Given the description of an element on the screen output the (x, y) to click on. 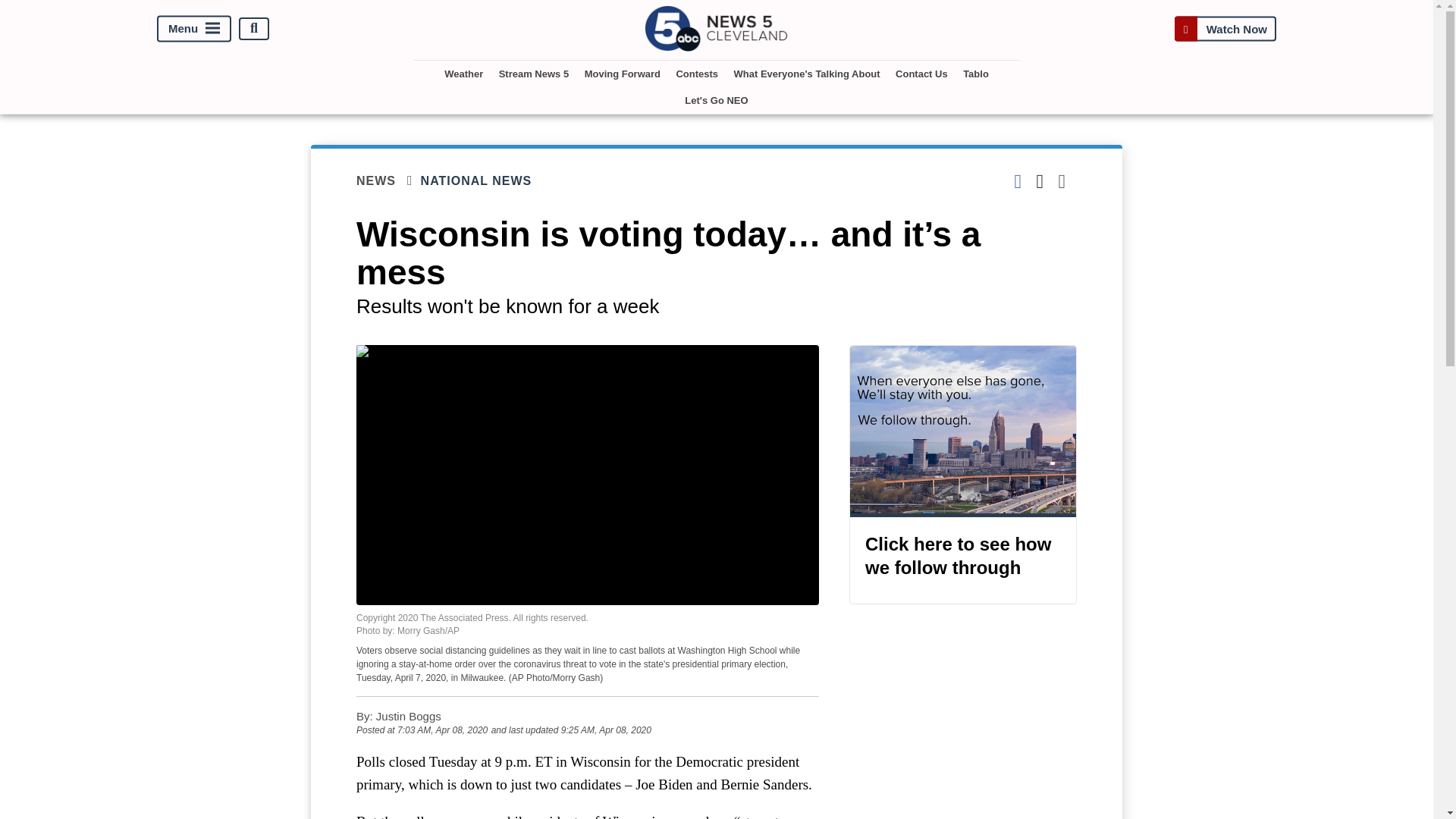
Menu (194, 28)
Watch Now (1224, 28)
